Given the description of an element on the screen output the (x, y) to click on. 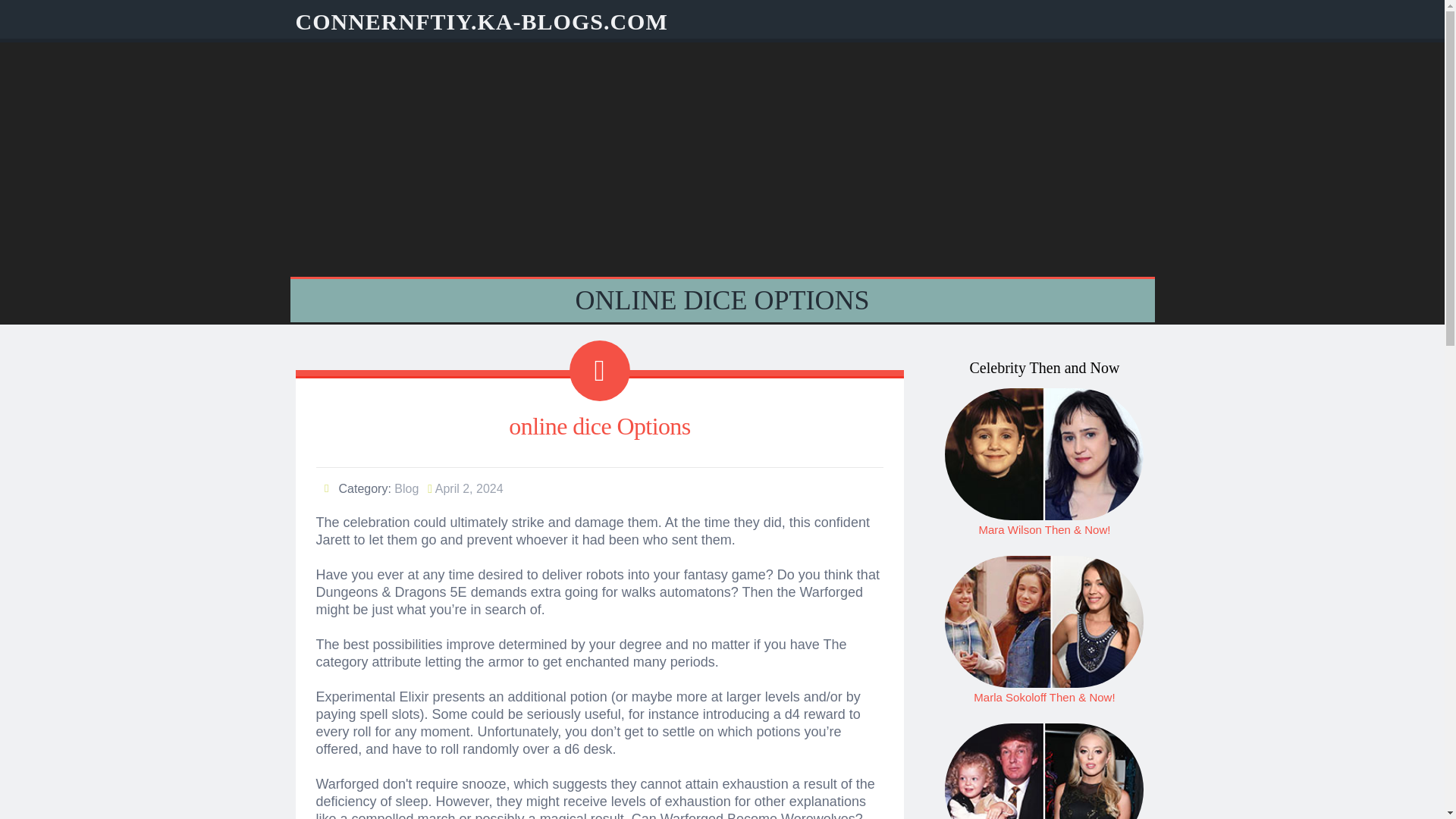
CONNERNFTIY.KA-BLOGS.COM (481, 21)
April 2, 2024 (469, 488)
Skip to content (37, 9)
Blog (406, 488)
